Given the description of an element on the screen output the (x, y) to click on. 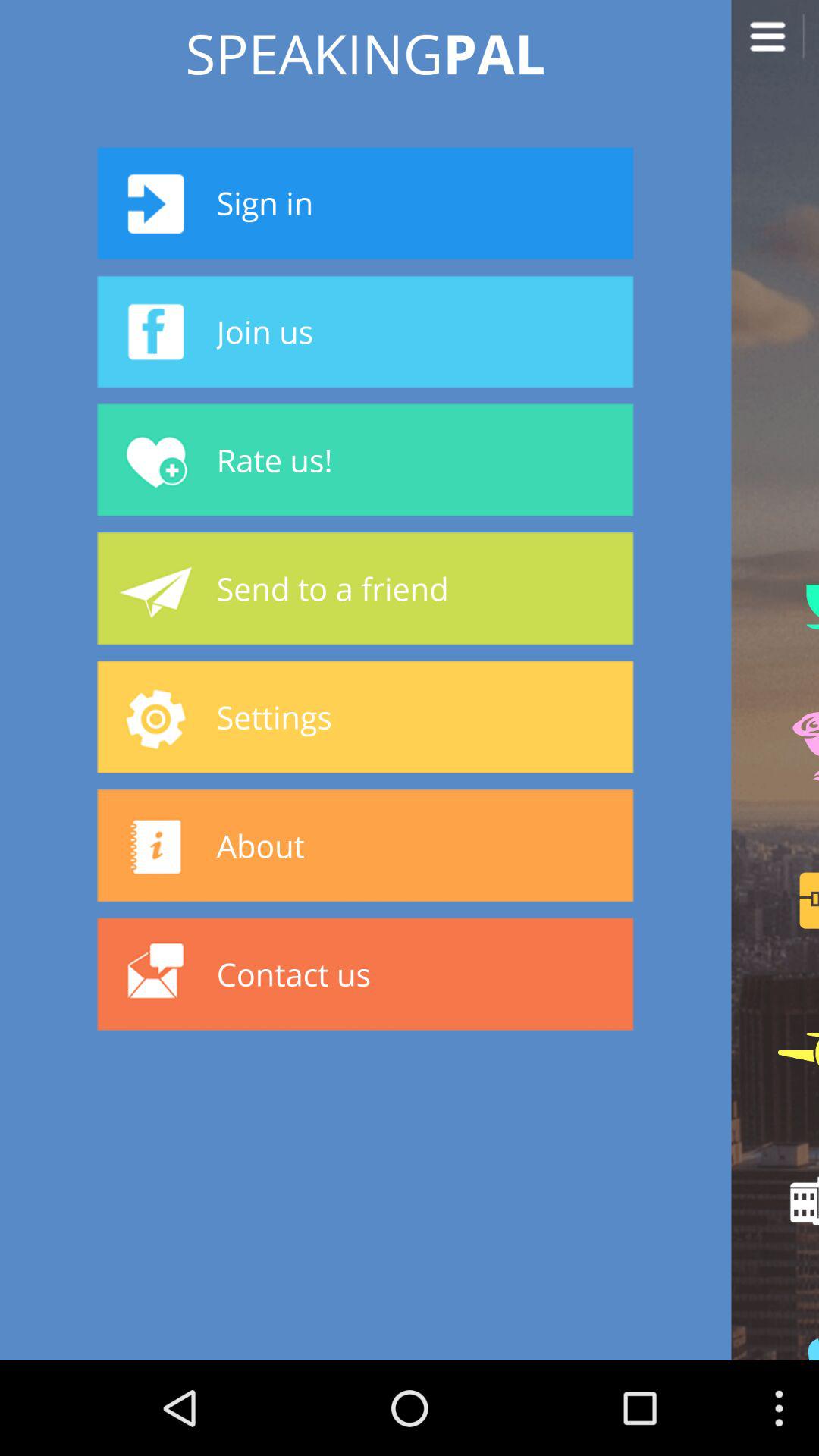
go to meanu option (775, 43)
